Given the description of an element on the screen output the (x, y) to click on. 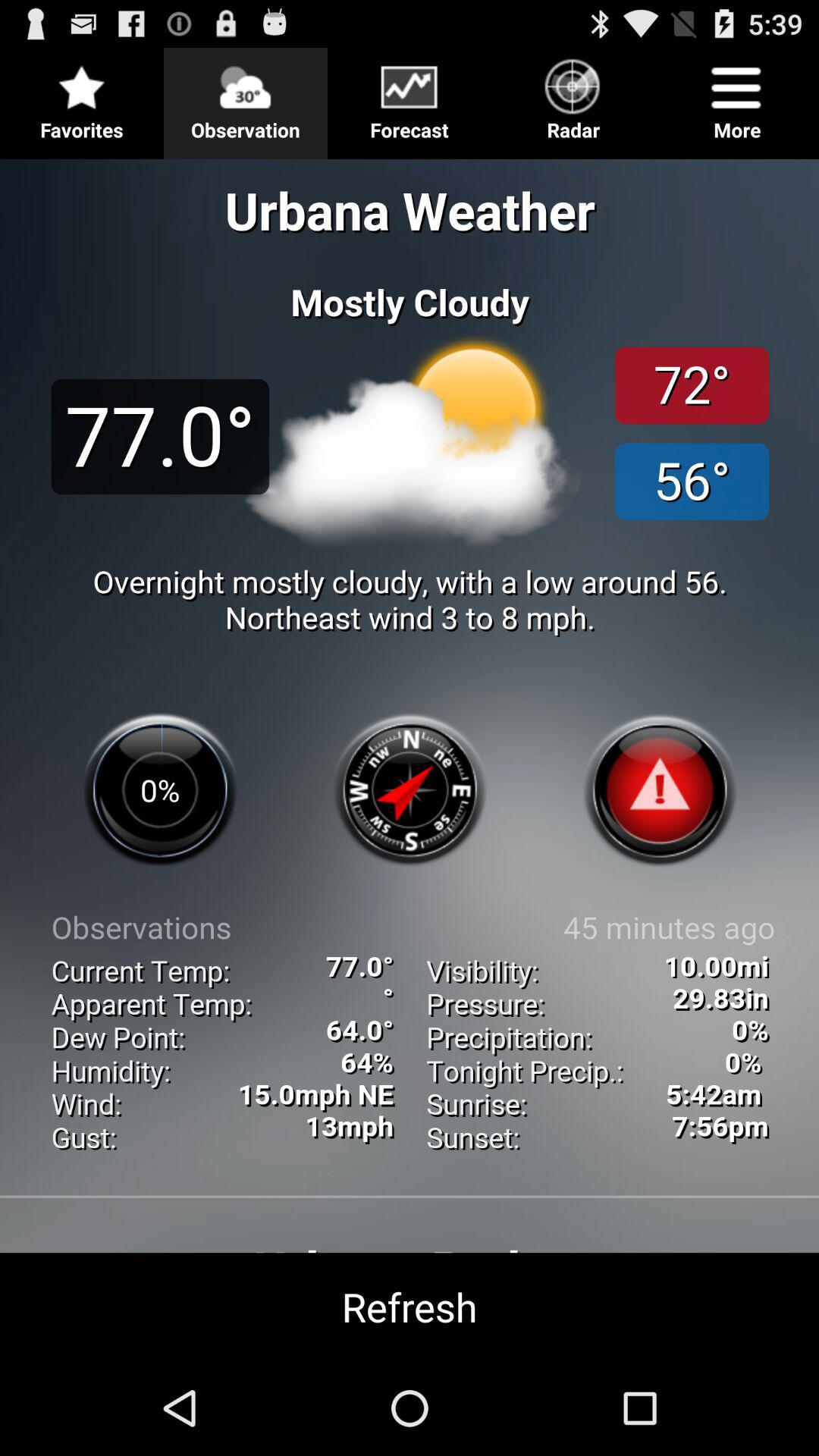
select from list of screens (409, 97)
